Given the description of an element on the screen output the (x, y) to click on. 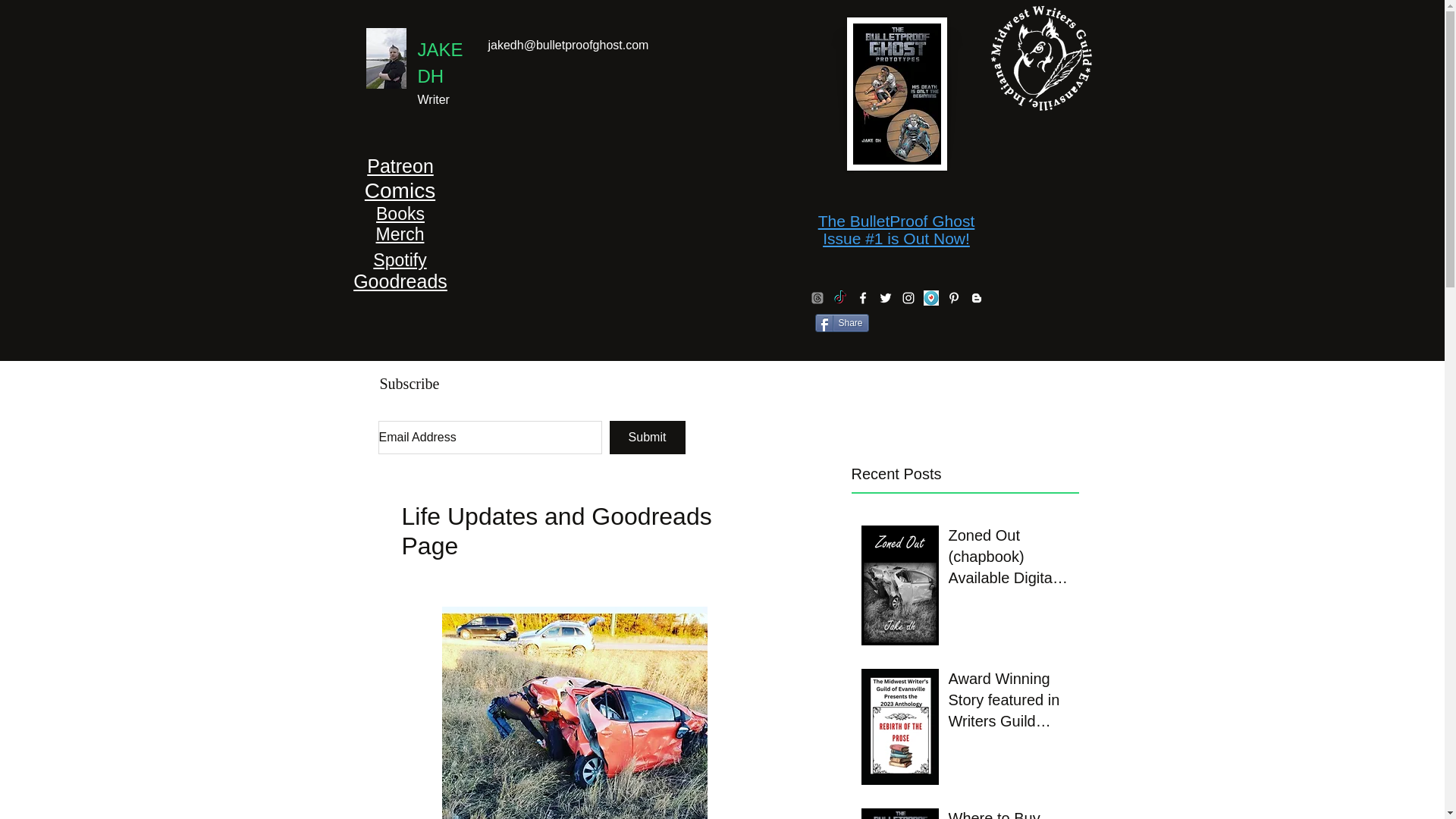
Comics (400, 190)
Patreon (399, 165)
Merch (400, 234)
Award Winning Story featured in Writers Guild Anthology (1007, 702)
Facebook Like (511, 132)
Share (840, 322)
Spotify (399, 260)
Submit (647, 437)
Share (840, 322)
MWG white logo no background.png (1040, 57)
